Given the description of an element on the screen output the (x, y) to click on. 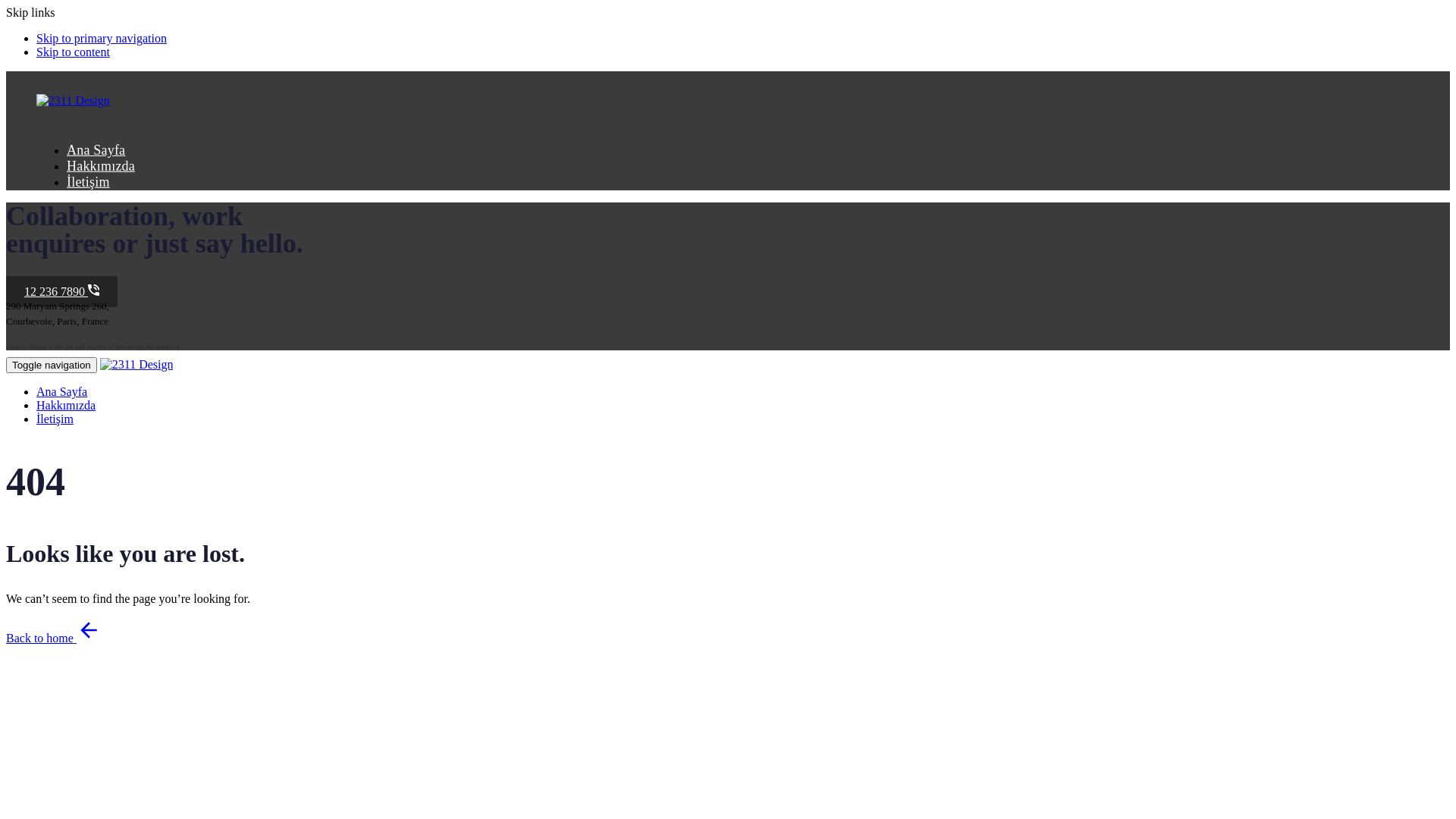
12 236 7890 Element type: text (61, 291)
Back to home Element type: text (53, 637)
Skip to primary navigation Element type: text (101, 37)
Toggle navigation Element type: text (51, 365)
Skip to content Element type: text (72, 51)
Ana Sayfa Element type: text (95, 149)
Ana Sayfa Element type: text (61, 391)
